Given the description of an element on the screen output the (x, y) to click on. 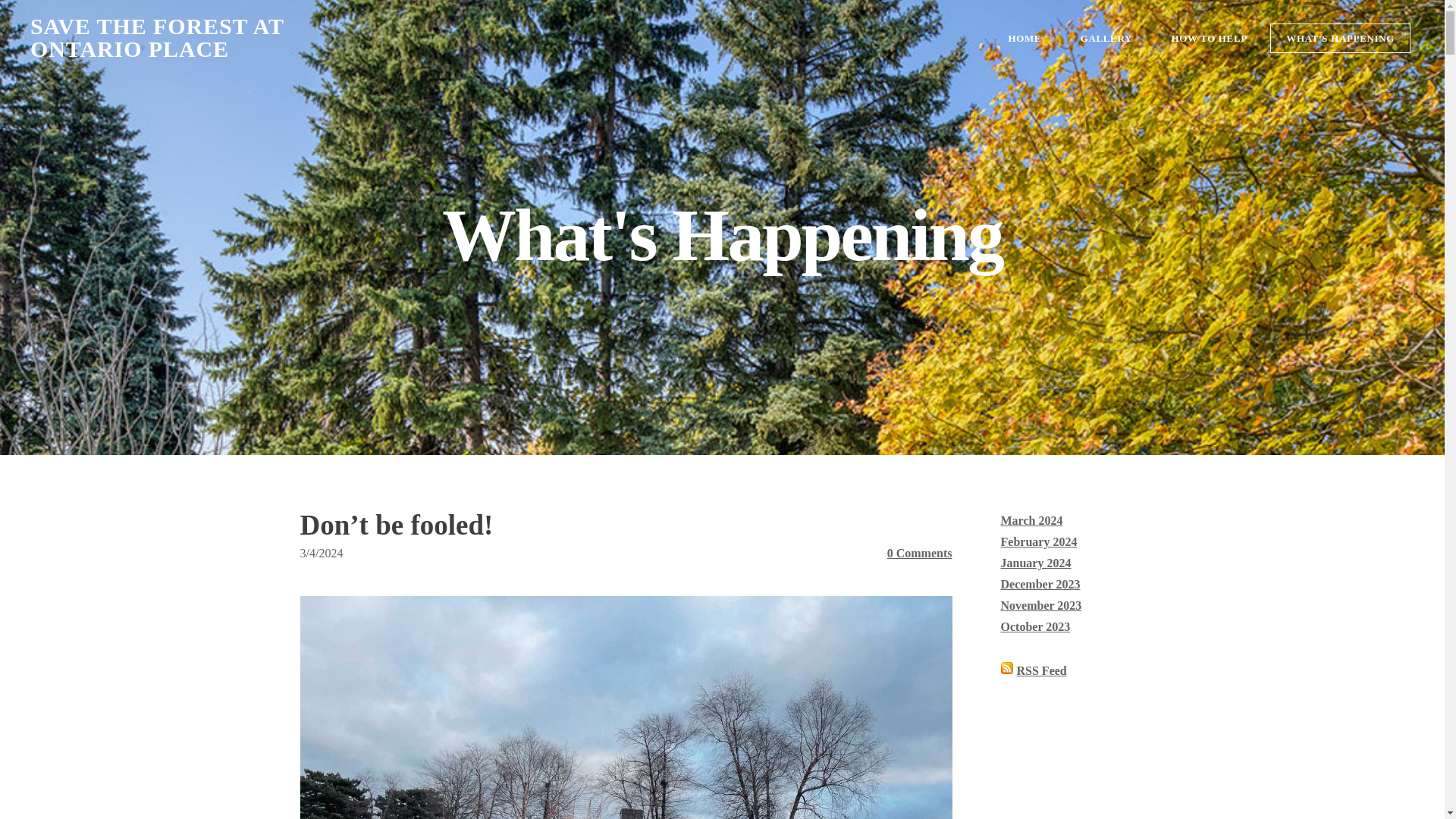
0 Comments (919, 553)
GALLERY (1106, 37)
WHAT'S HAPPENING (1339, 37)
HOME (1024, 37)
HOW TO HELP (1208, 37)
SAVE THE FOREST AT ONTARIO PLACE (320, 37)
